Given the description of an element on the screen output the (x, y) to click on. 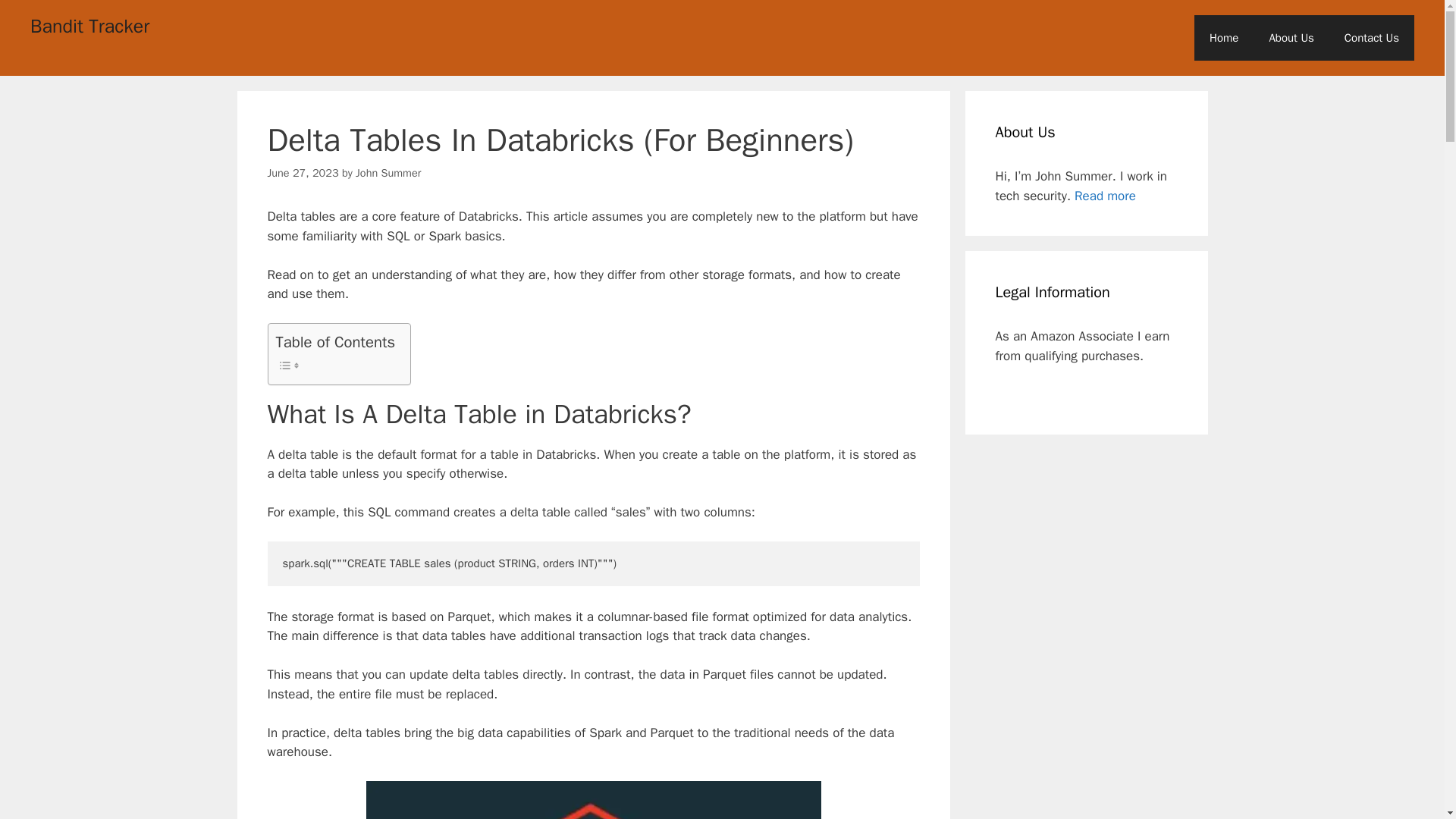
Home (1223, 37)
About Us (1290, 37)
John Summer (387, 172)
View all posts by John Summer (387, 172)
Bandit Tracker (89, 25)
Contact Us (1371, 37)
Read more (1104, 195)
